Given the description of an element on the screen output the (x, y) to click on. 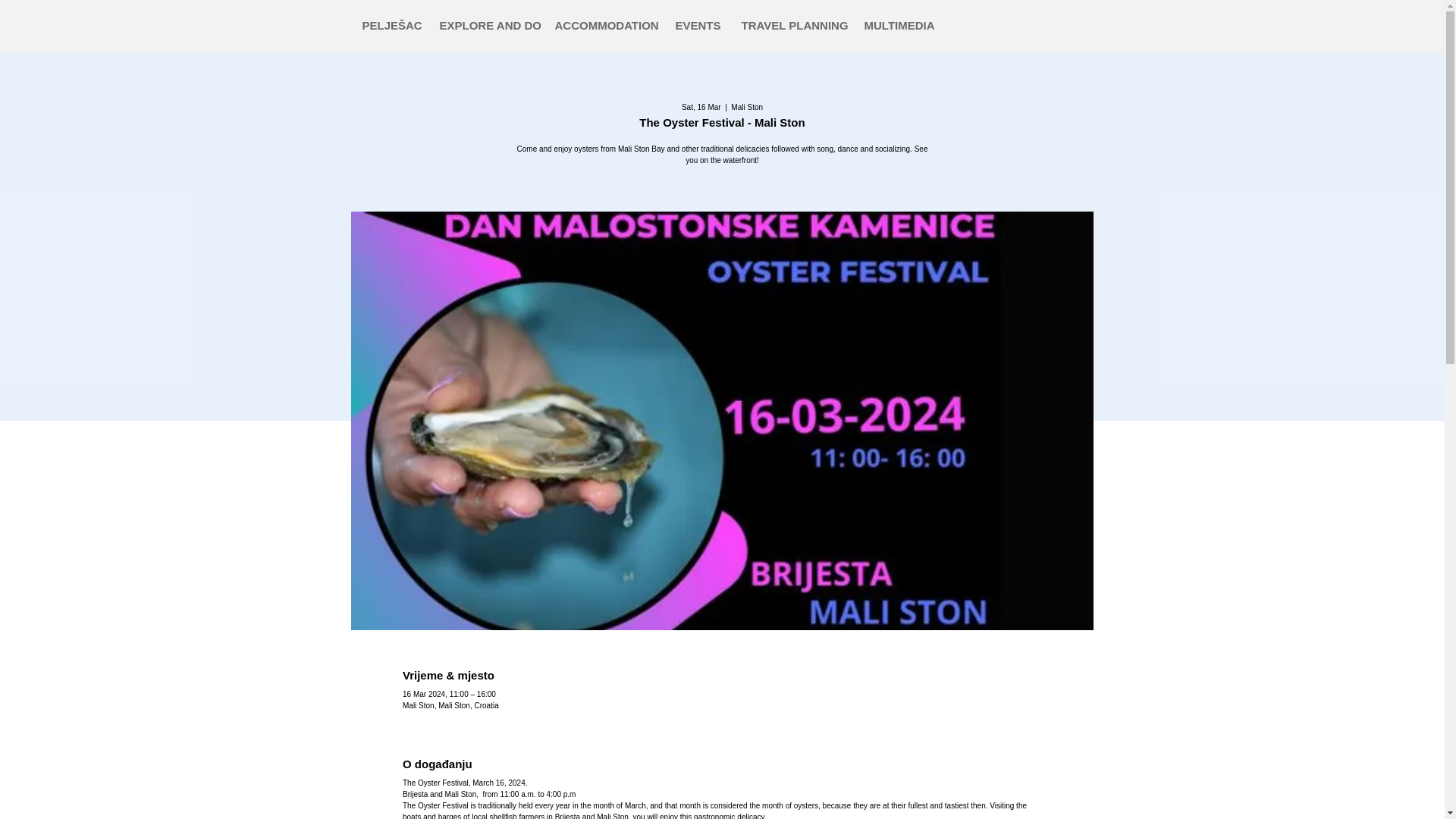
TRAVEL PLANNING (790, 25)
EXPLORE AND DO (485, 25)
MULTIMEDIA (896, 25)
EVENTS (696, 25)
ACCOMMODATION (603, 25)
